Given the description of an element on the screen output the (x, y) to click on. 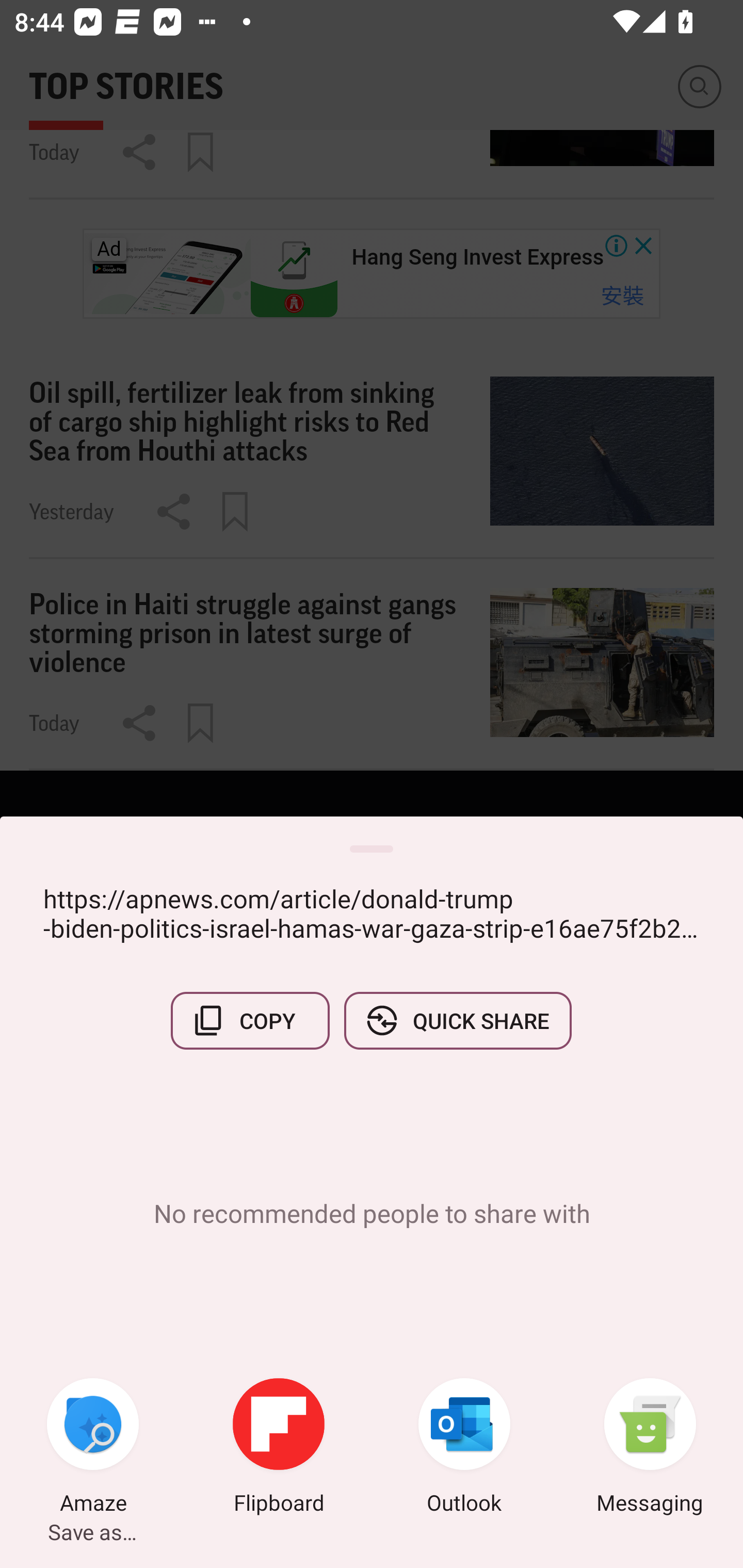
COPY (249, 1020)
QUICK SHARE (457, 1020)
Amaze Save as… (92, 1448)
Flipboard (278, 1448)
Outlook (464, 1448)
Messaging (650, 1448)
